Given the description of an element on the screen output the (x, y) to click on. 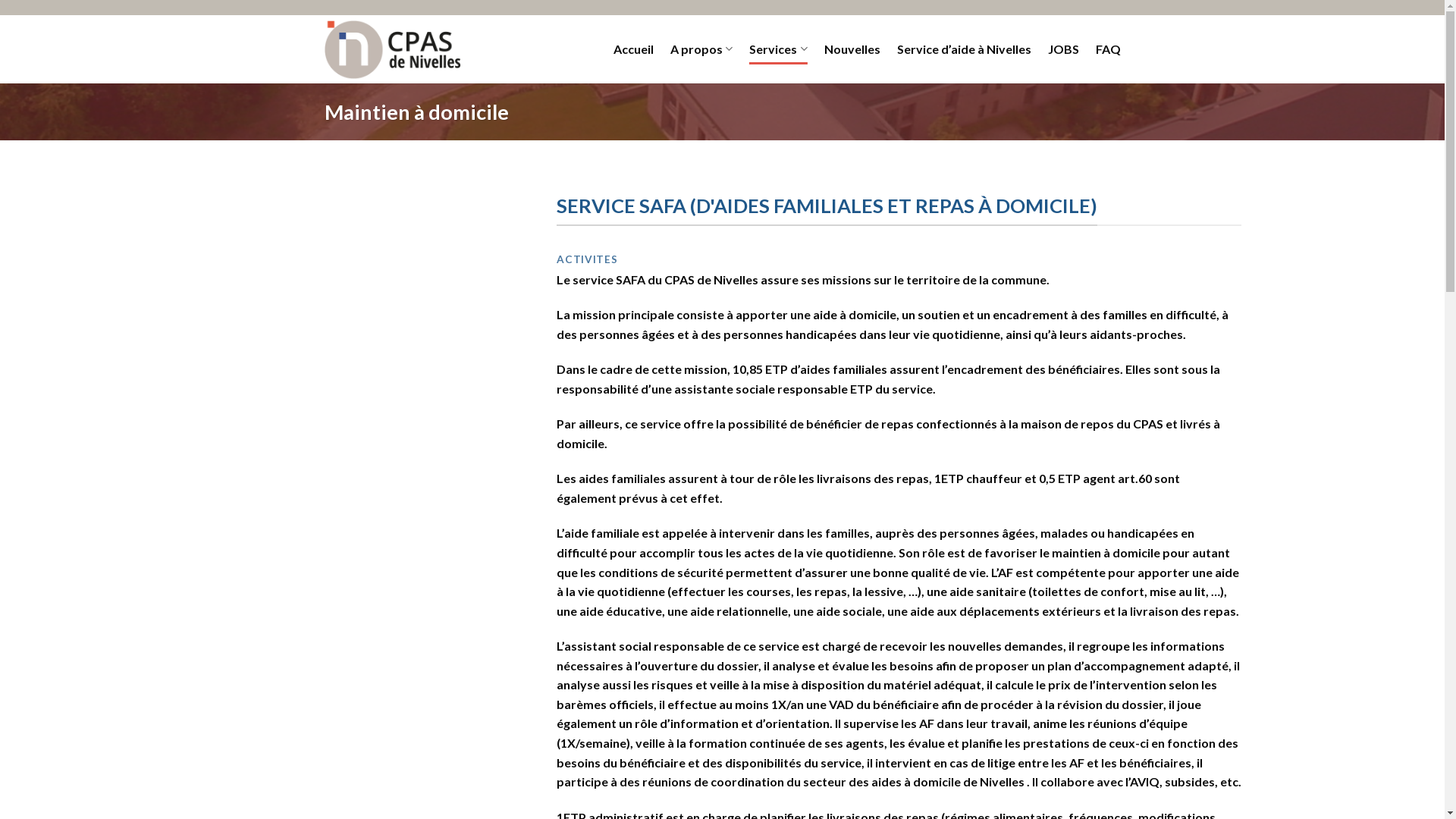
Services Element type: text (777, 48)
A propos Element type: text (701, 48)
JOBS Element type: text (1063, 48)
Accueil Element type: text (633, 48)
FAQ Element type: text (1107, 48)
Nouvelles Element type: text (851, 48)
